Given the description of an element on the screen output the (x, y) to click on. 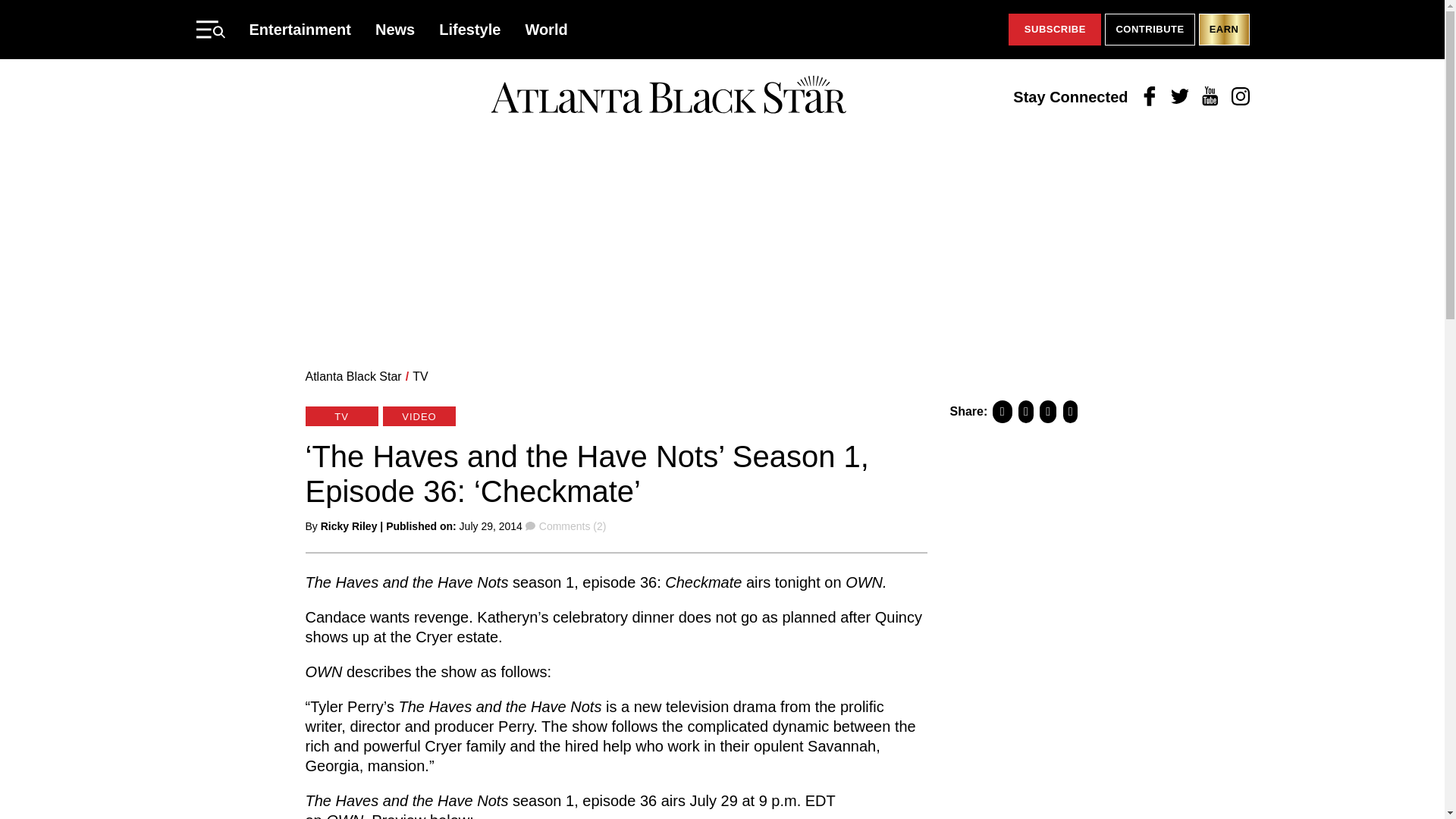
World (545, 29)
News (394, 29)
CONTRIBUTE (1149, 29)
EARN (1223, 29)
Go to Atlanta Black Star. (352, 376)
SUBSCRIBE (1054, 29)
Lifestyle (469, 29)
TV (420, 376)
Go to the TV Category archives. (420, 376)
Atlanta Black Star (667, 96)
Entertainment (299, 29)
Atlanta Black Star (352, 376)
